Given the description of an element on the screen output the (x, y) to click on. 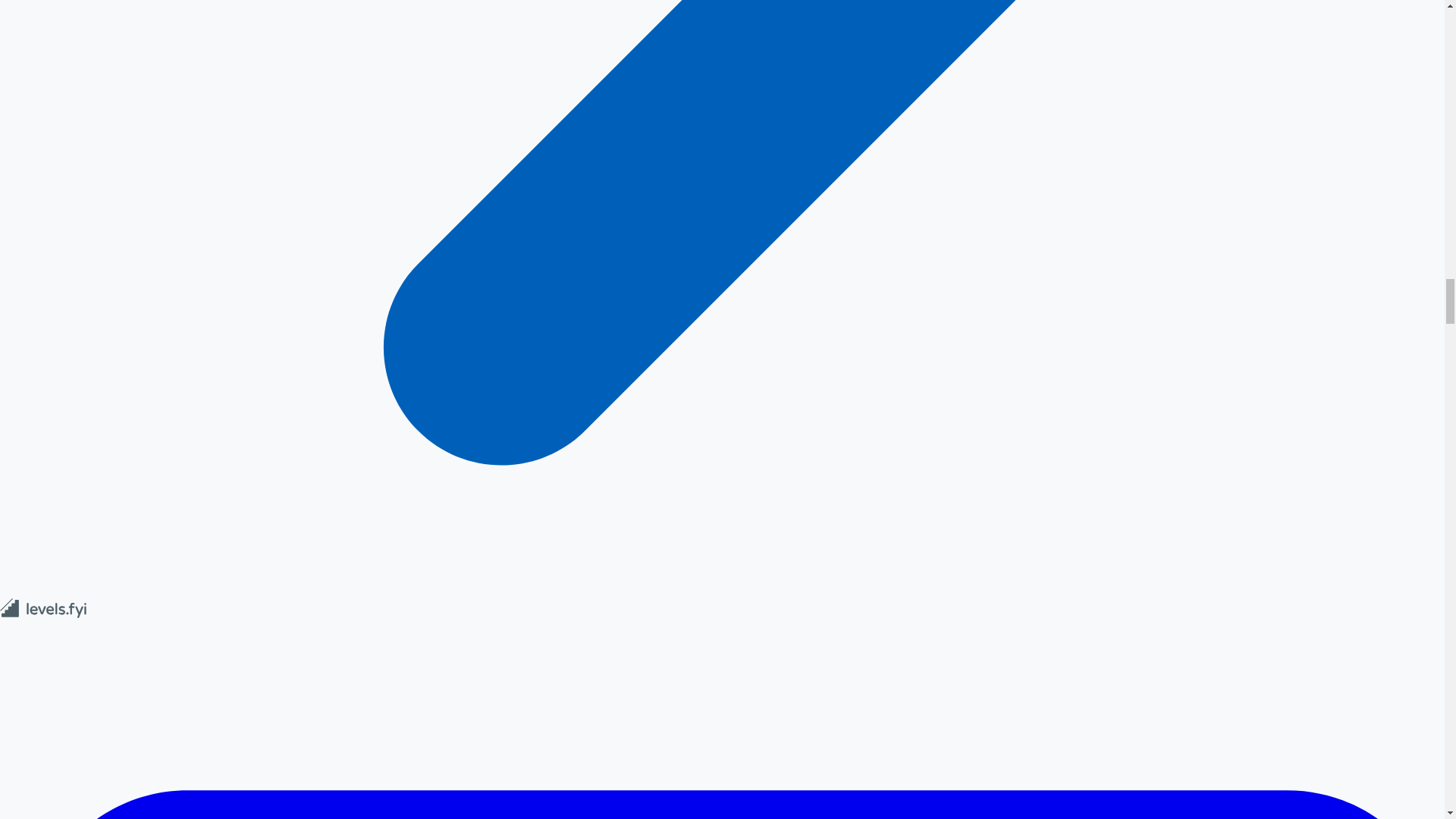
Levels FYI Logo (43, 608)
Levels FYI Logo (43, 614)
